Given the description of an element on the screen output the (x, y) to click on. 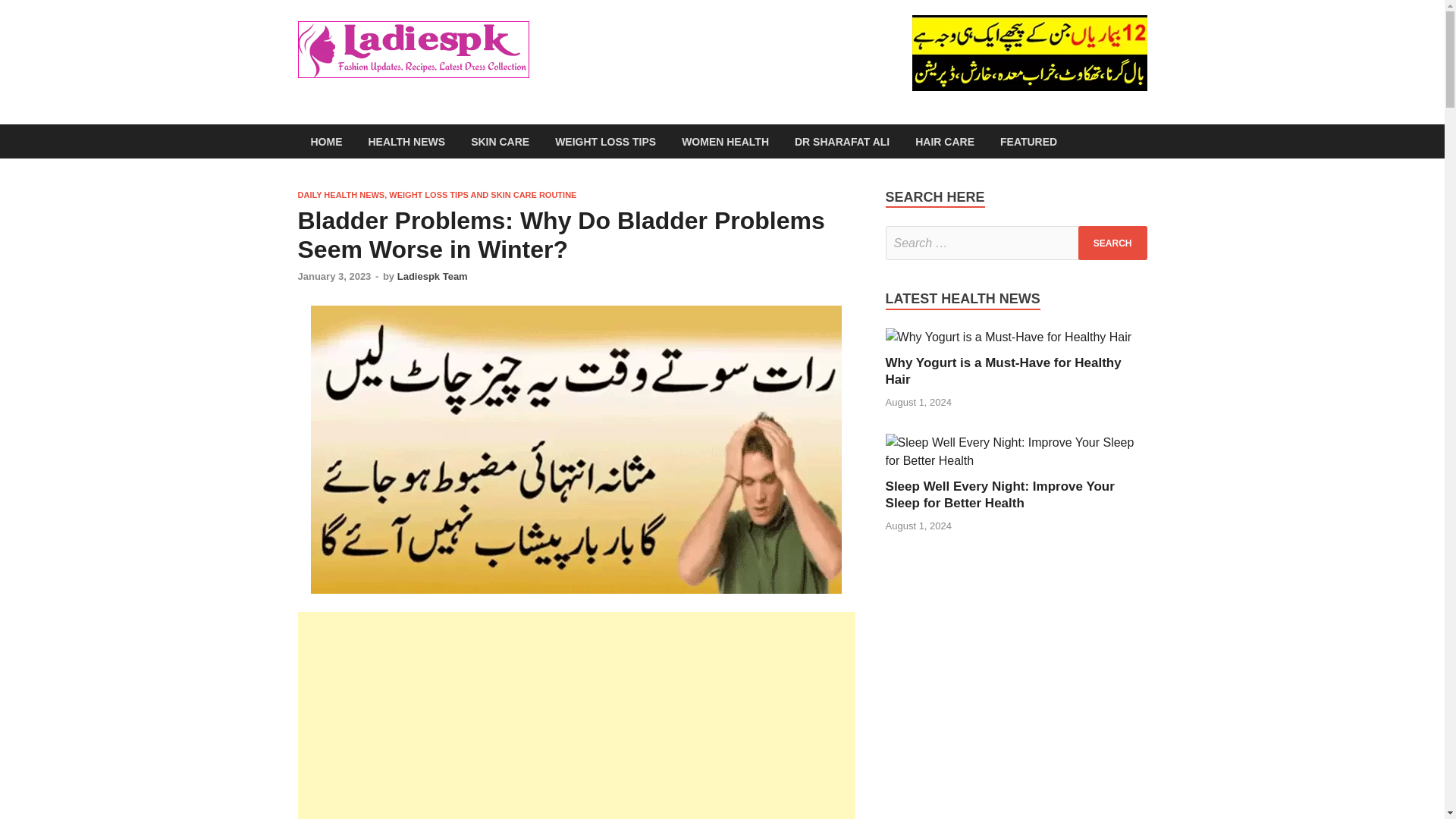
DAILY HEALTH NEWS, WEIGHT LOSS TIPS AND SKIN CARE ROUTINE (436, 194)
Search (1112, 243)
SKIN CARE (499, 141)
Search (1112, 243)
FEATURED (1028, 141)
DR SHARAFAT ALI (841, 141)
Search (1112, 243)
Sleep Well Every Night: Improve Your Sleep for Better Health (1000, 494)
HOME (326, 141)
Ladiespk Team (432, 276)
Why Yogurt is a Must-Have for Healthy Hair (1003, 370)
HEALTH NEWS (406, 141)
WOMEN HEALTH (724, 141)
WEIGHT LOSS TIPS (604, 141)
HAIR CARE (944, 141)
